Given the description of an element on the screen output the (x, y) to click on. 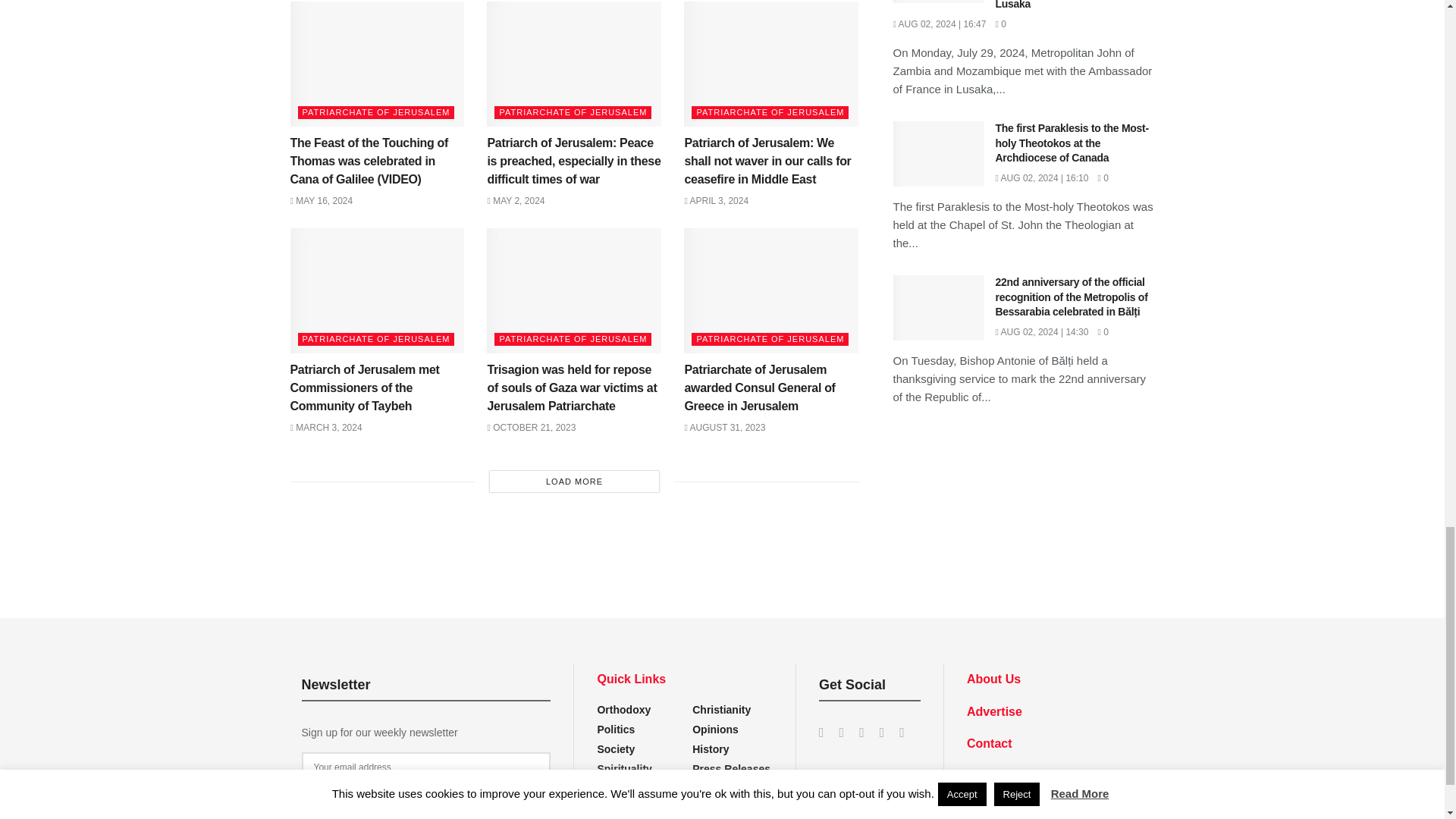
You can add some category description here. (711, 748)
OrthodoxTimes.com (1033, 783)
Sign up (426, 797)
You can add some category description here. (731, 768)
